Given the description of an element on the screen output the (x, y) to click on. 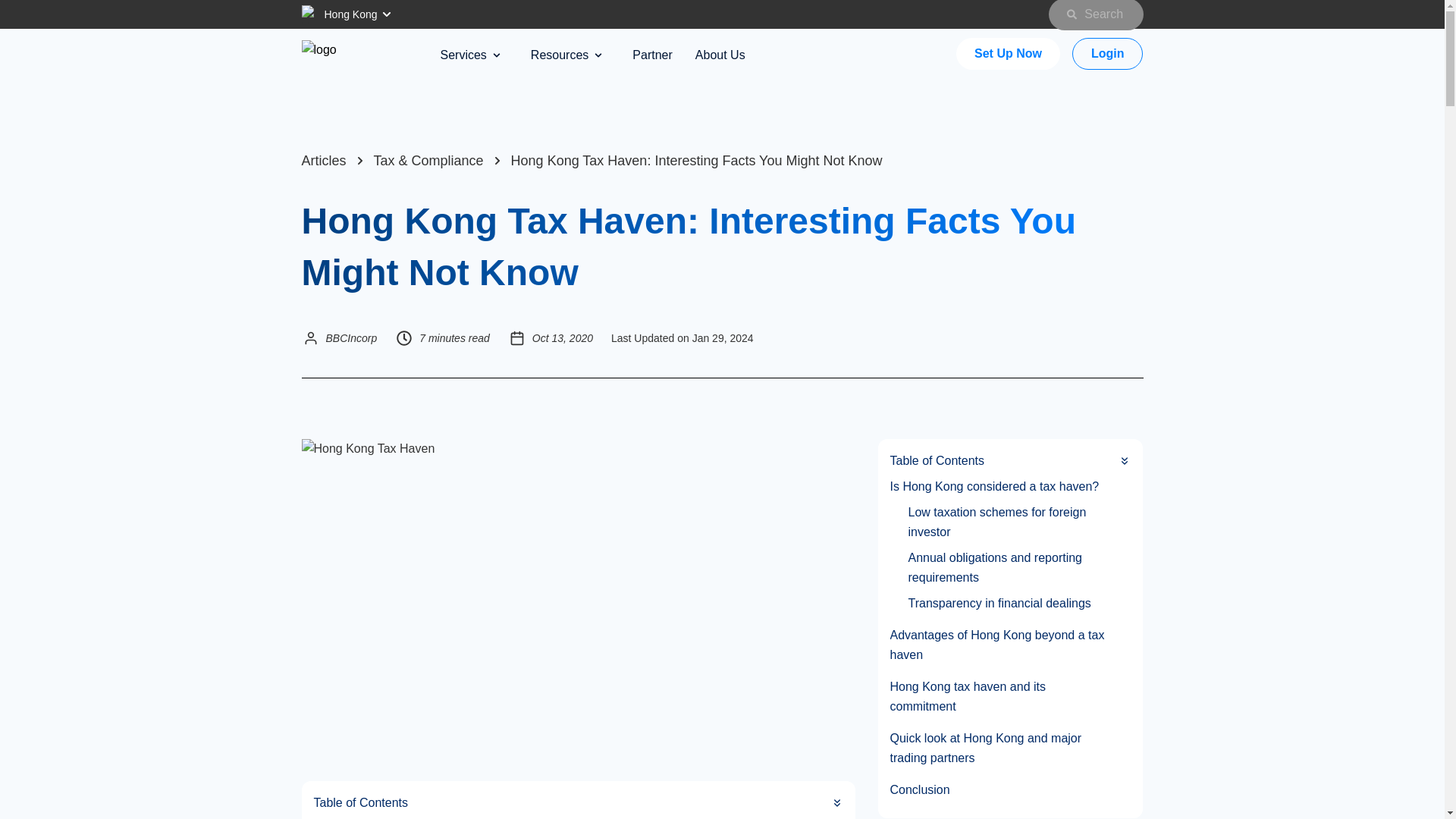
Resources (566, 55)
Partner (651, 55)
Set Up Now (1007, 53)
Login (1106, 53)
Articles (323, 160)
Partner (651, 55)
BBCIncorp (351, 337)
Search (1095, 15)
Services (469, 55)
